Given the description of an element on the screen output the (x, y) to click on. 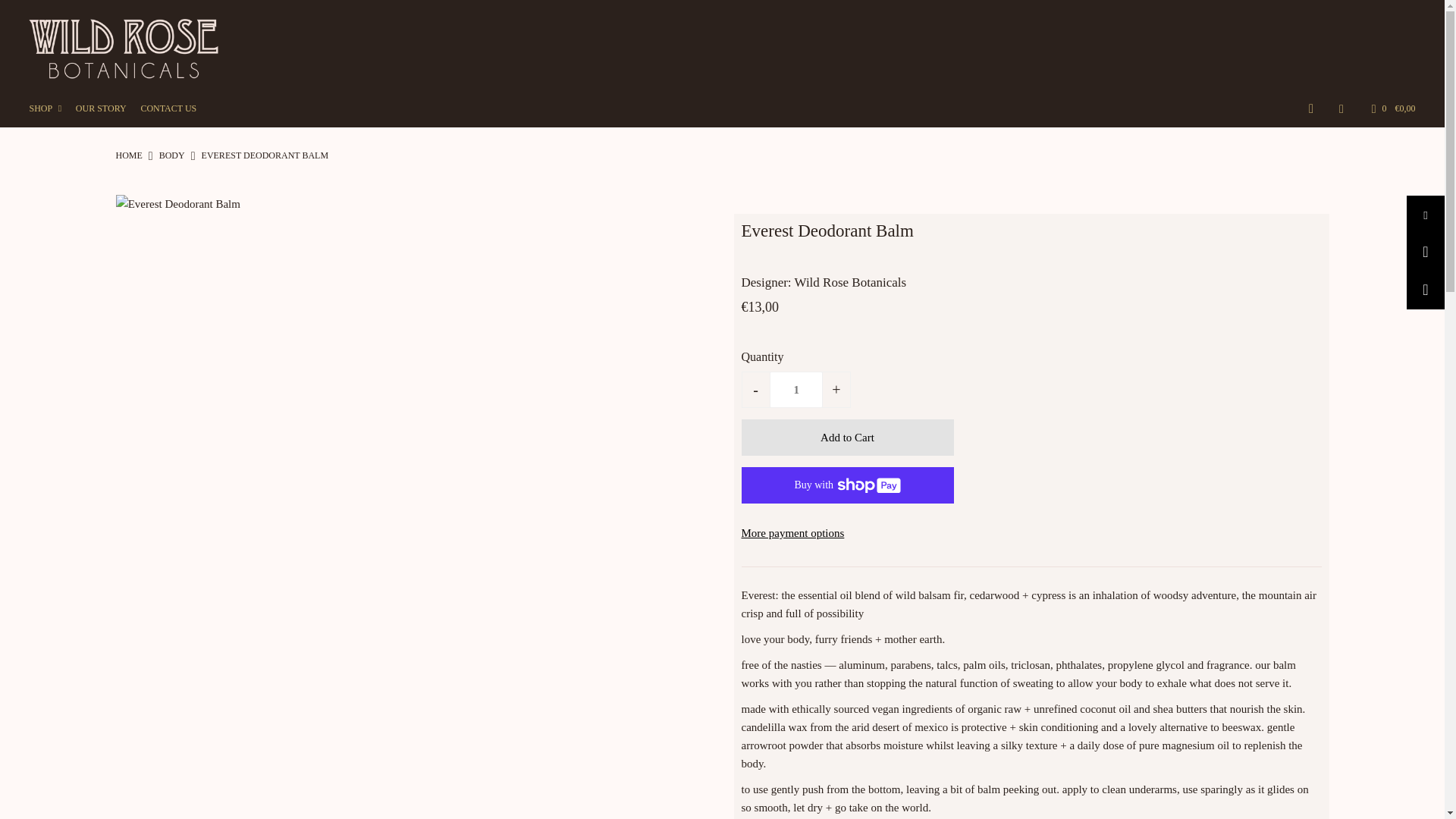
CONTACT US (173, 108)
Add to Cart (847, 437)
Home (128, 154)
More payment options (1031, 533)
BODY (171, 154)
HOME (128, 154)
SHOP (50, 108)
1 (796, 389)
Add to Cart (847, 437)
OUR STORY (106, 108)
